Given the description of an element on the screen output the (x, y) to click on. 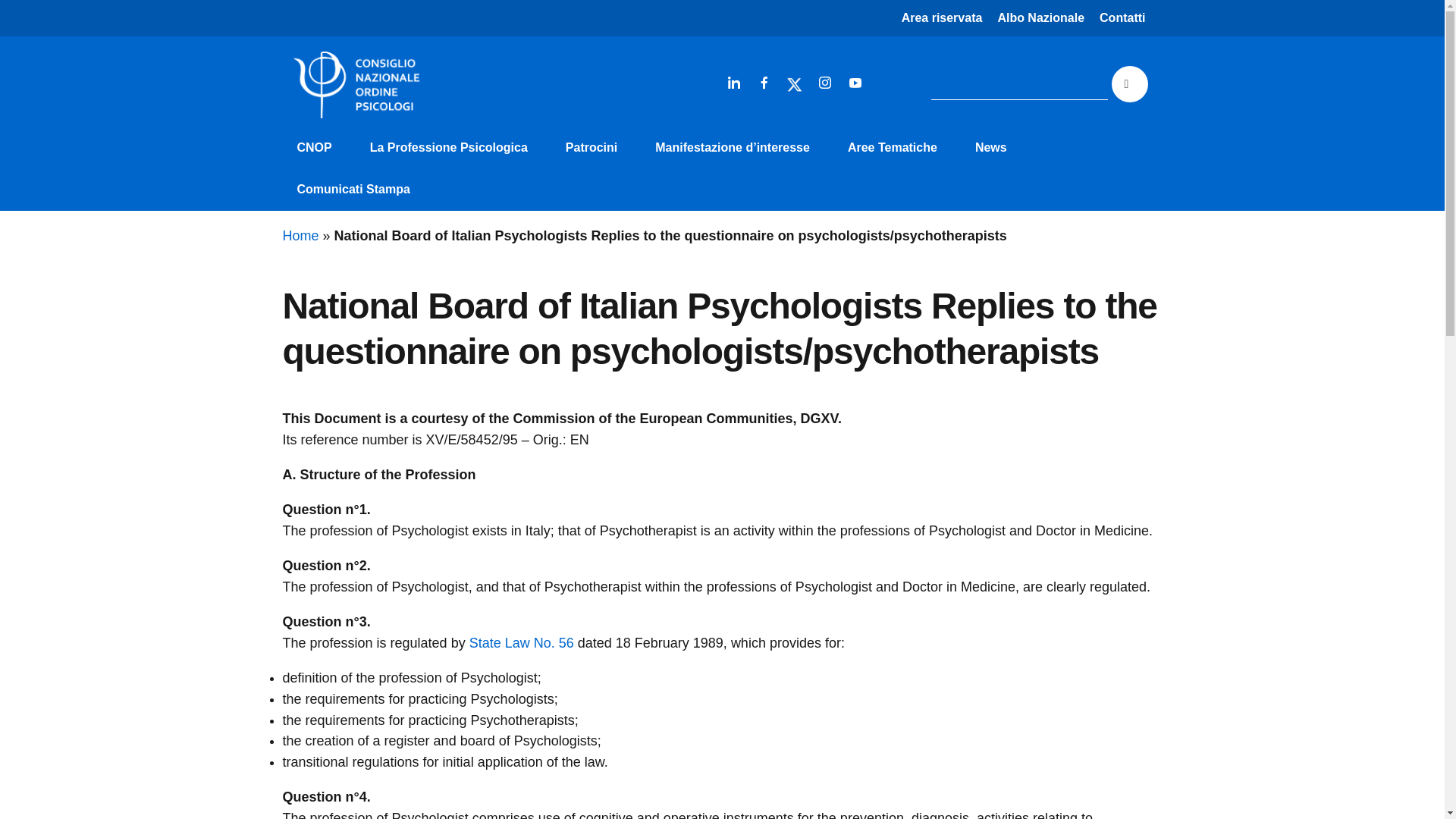
Area riservata (941, 17)
Contatti (1121, 17)
Home (300, 235)
CNOP (313, 148)
State Law No. 56 (520, 642)
Patrocini (591, 148)
Regulation of the profession of the psychologist (520, 642)
Comunicati Stampa (352, 189)
Aree Tematiche (892, 148)
La Professione Psicologica (448, 148)
Cerca (1130, 84)
Albo Nazionale (1040, 17)
News (990, 148)
Cerca (1130, 84)
